Given the description of an element on the screen output the (x, y) to click on. 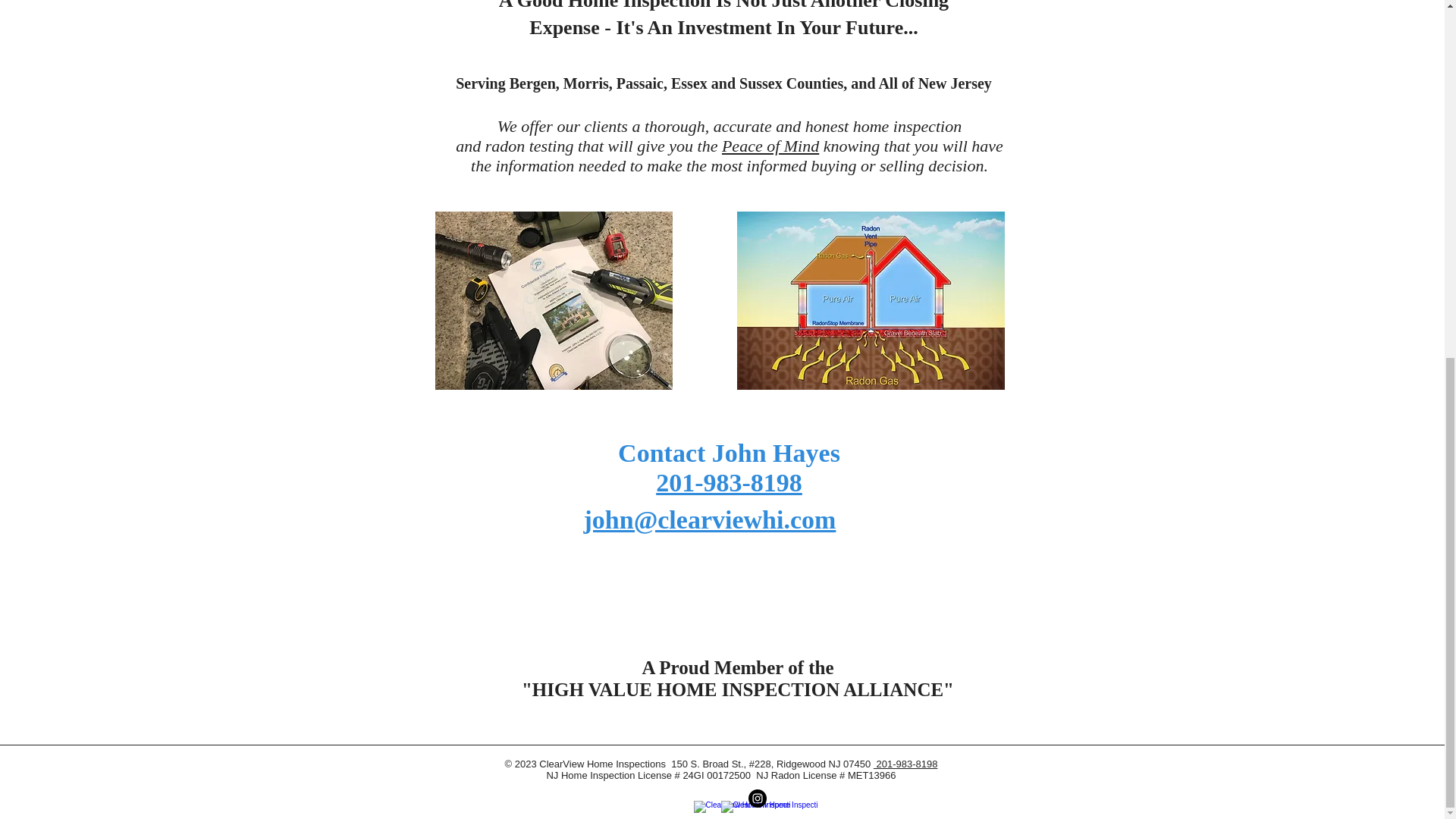
201-983-8198 (729, 481)
 201-983-8198 (905, 763)
